Given the description of an element on the screen output the (x, y) to click on. 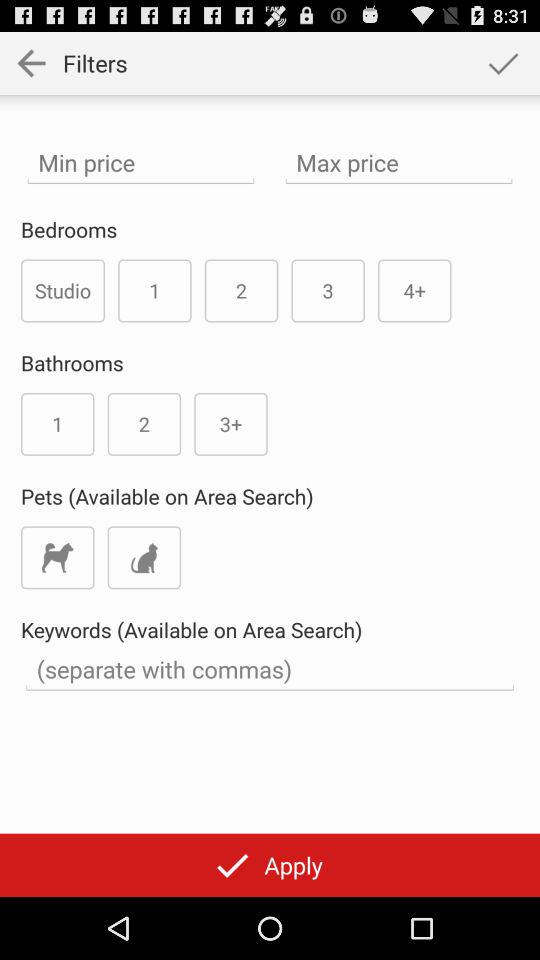
select cat (144, 557)
